Given the description of an element on the screen output the (x, y) to click on. 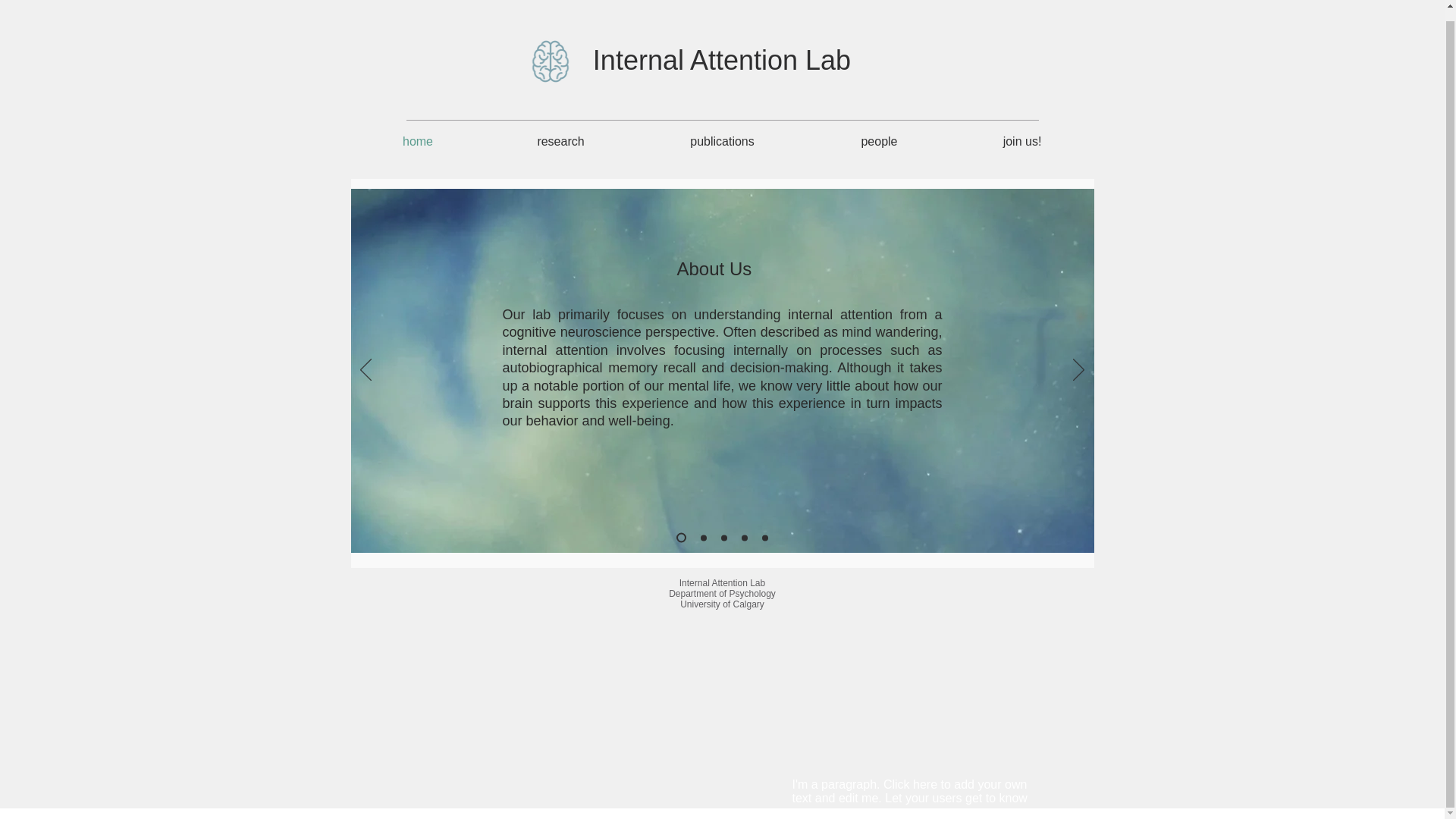
home (417, 141)
research (560, 141)
join us! (1022, 141)
Internal Attention Lab (721, 60)
publications (722, 141)
people (879, 141)
